Given the description of an element on the screen output the (x, y) to click on. 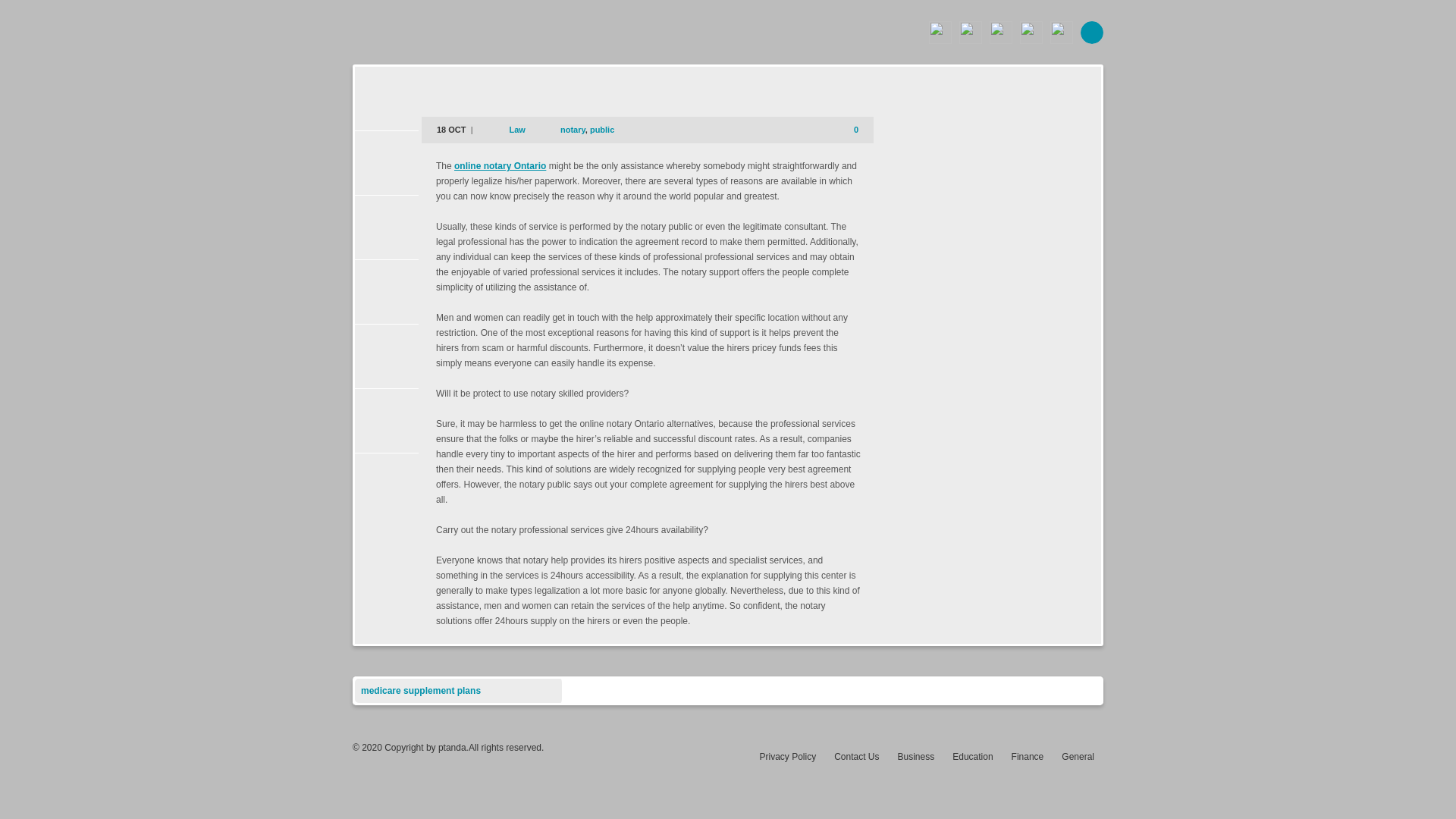
Law (517, 129)
Finance (1027, 756)
Privacy Policy (786, 756)
18 OCT (452, 129)
General (1077, 756)
October 18, 2022 (452, 129)
Business (916, 756)
public (601, 129)
online notary Ontario (500, 165)
medicare supplement plans (420, 690)
